Given the description of an element on the screen output the (x, y) to click on. 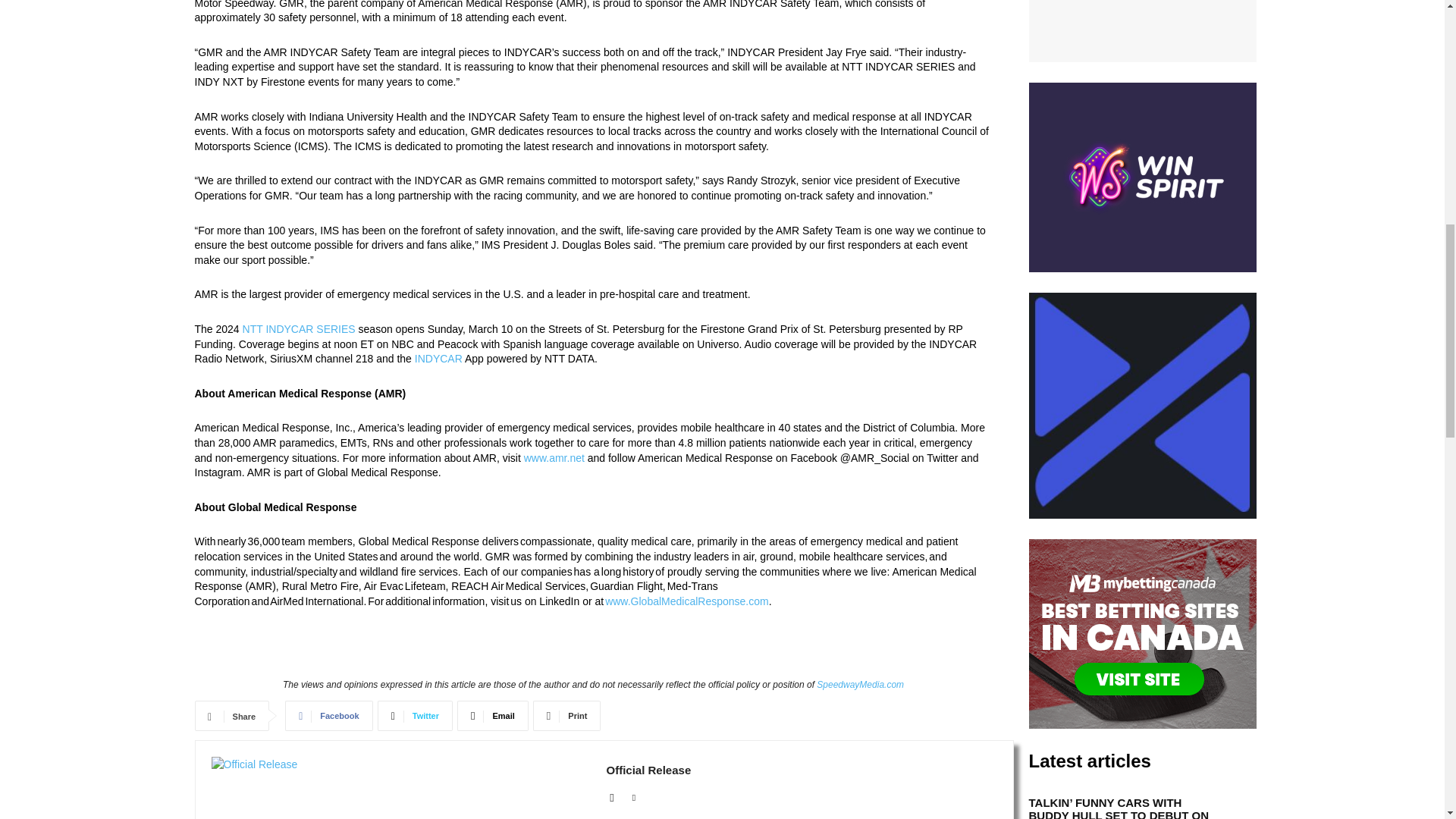
Twitter (414, 716)
Email (492, 716)
Facebook (328, 716)
